Given the description of an element on the screen output the (x, y) to click on. 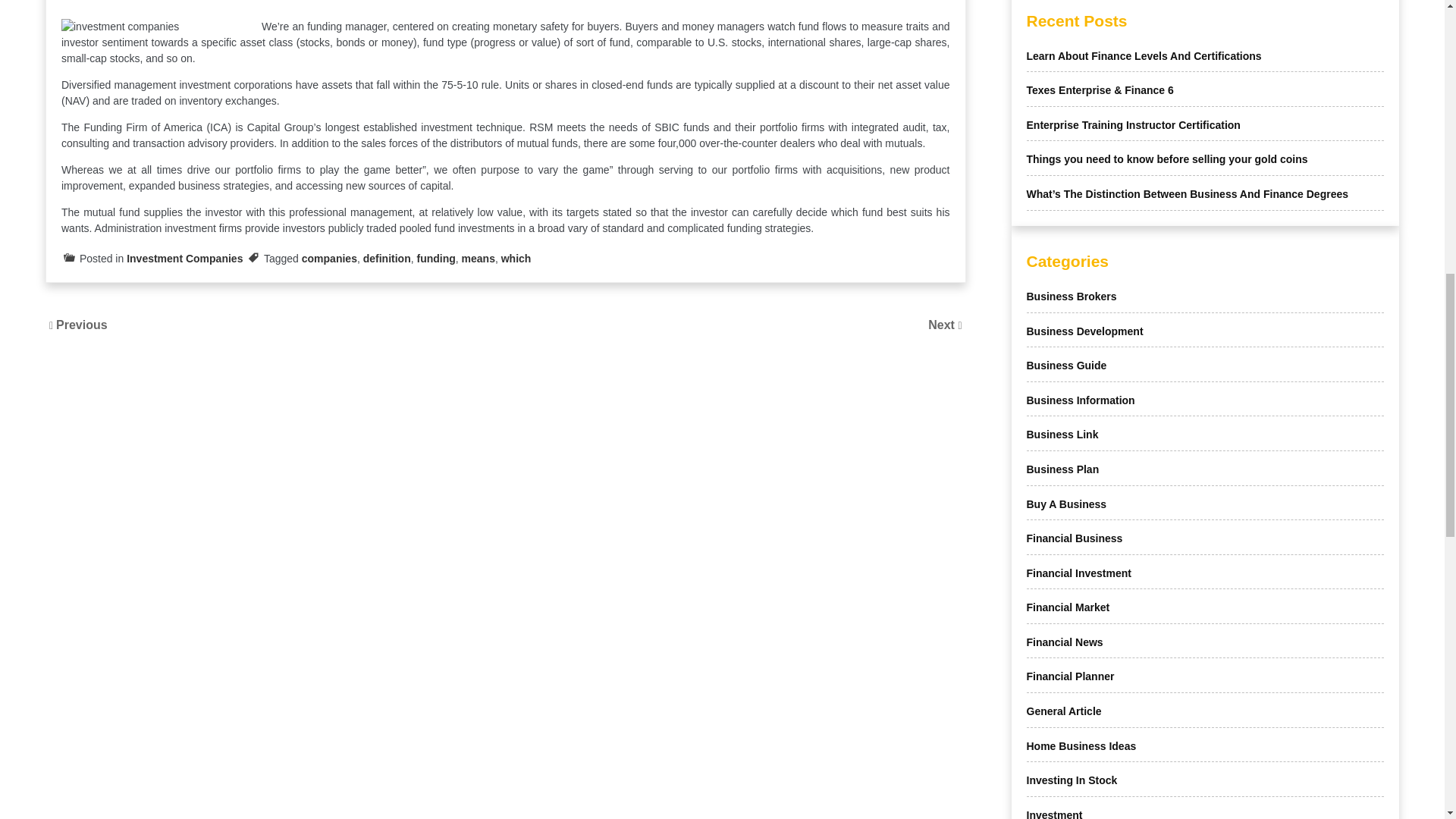
definition (386, 258)
funding (435, 258)
means (478, 258)
companies (328, 258)
Investment Companies (184, 258)
